Given the description of an element on the screen output the (x, y) to click on. 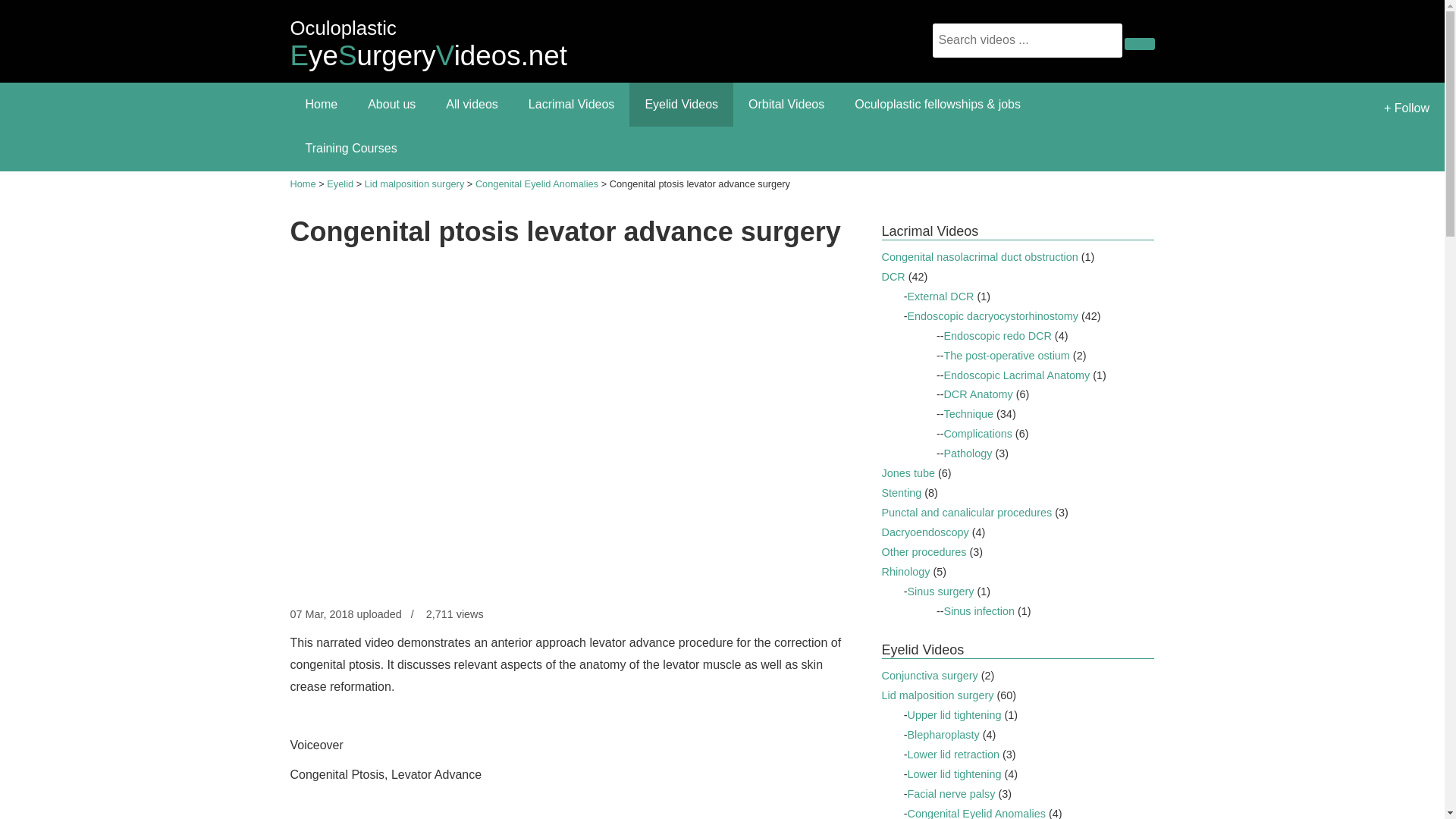
About us (391, 104)
Eyelid Videos (680, 104)
All videos (428, 40)
Home (471, 104)
Lacrimal Videos (320, 104)
Go to the Congenital Eyelid Anomalies category archives. (571, 104)
Go to the Eyelid category archives. (537, 183)
Go to the Lid malposition surgery category archives. (339, 183)
